Given the description of an element on the screen output the (x, y) to click on. 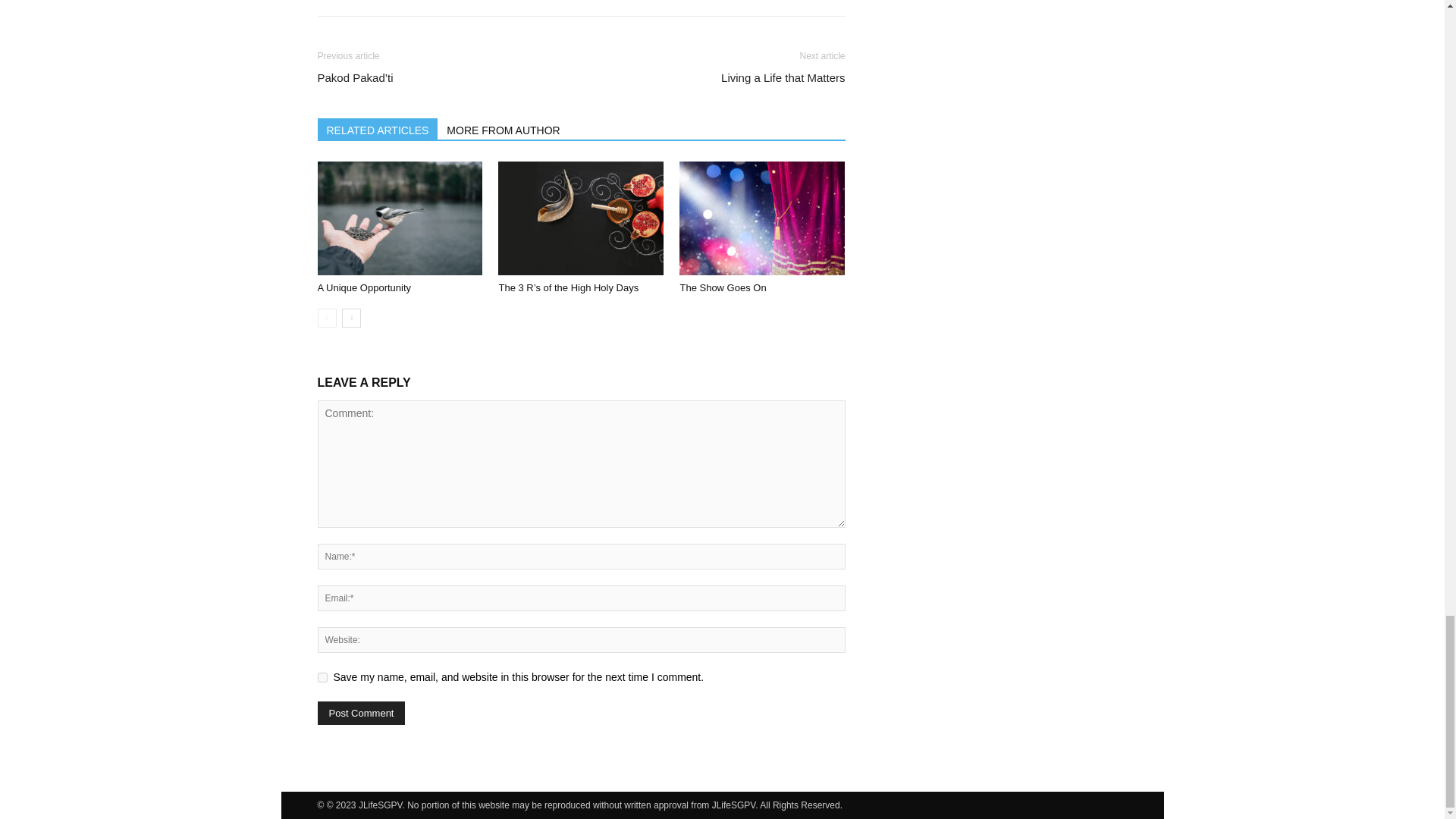
yes (321, 677)
A Unique Opportunity (399, 218)
Post Comment (360, 712)
The Show Goes On (761, 218)
The Show Goes On (722, 287)
A Unique Opportunity (363, 287)
